Given the description of an element on the screen output the (x, y) to click on. 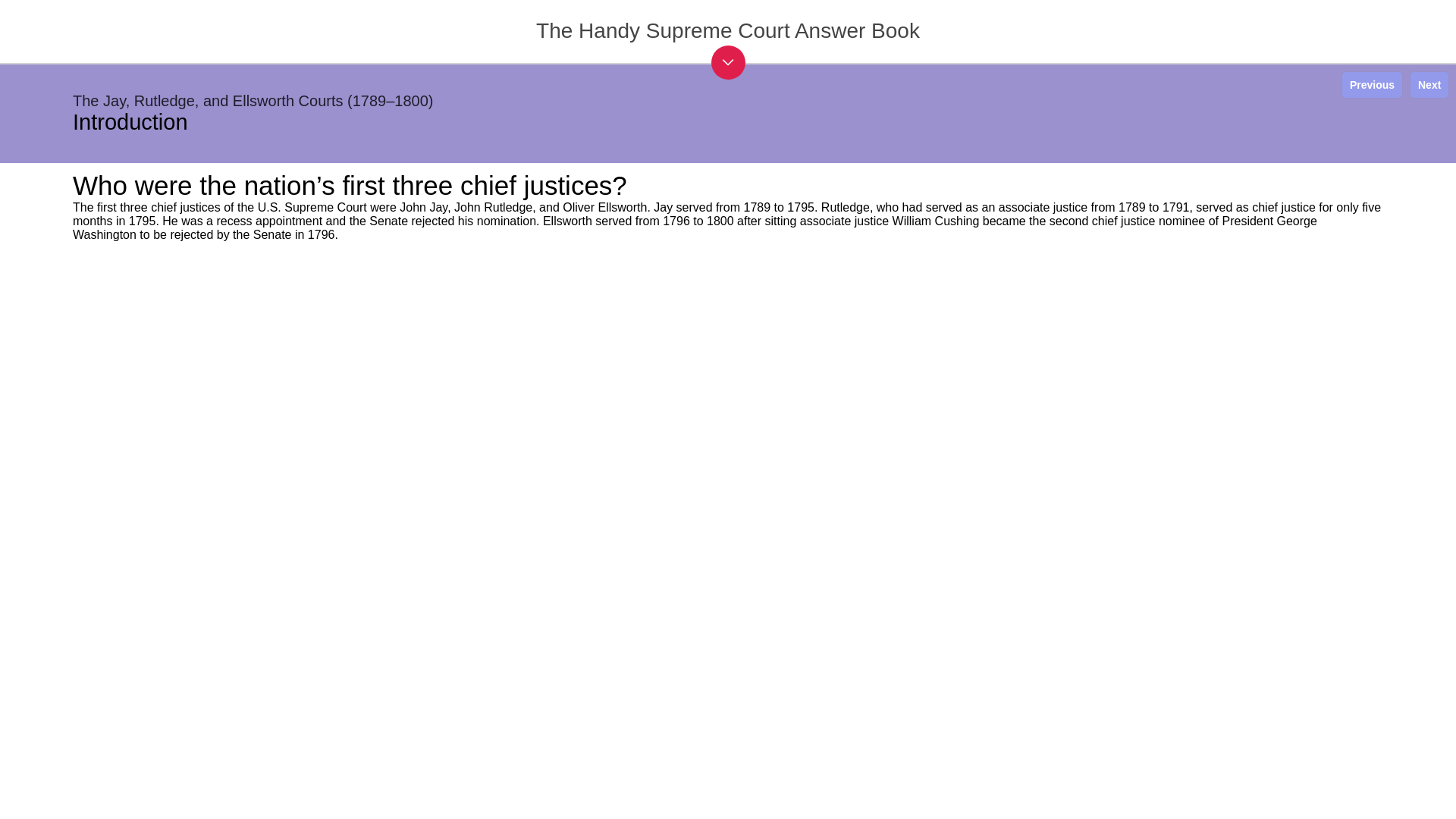
Next (1429, 84)
Previous (1372, 84)
